Given the description of an element on the screen output the (x, y) to click on. 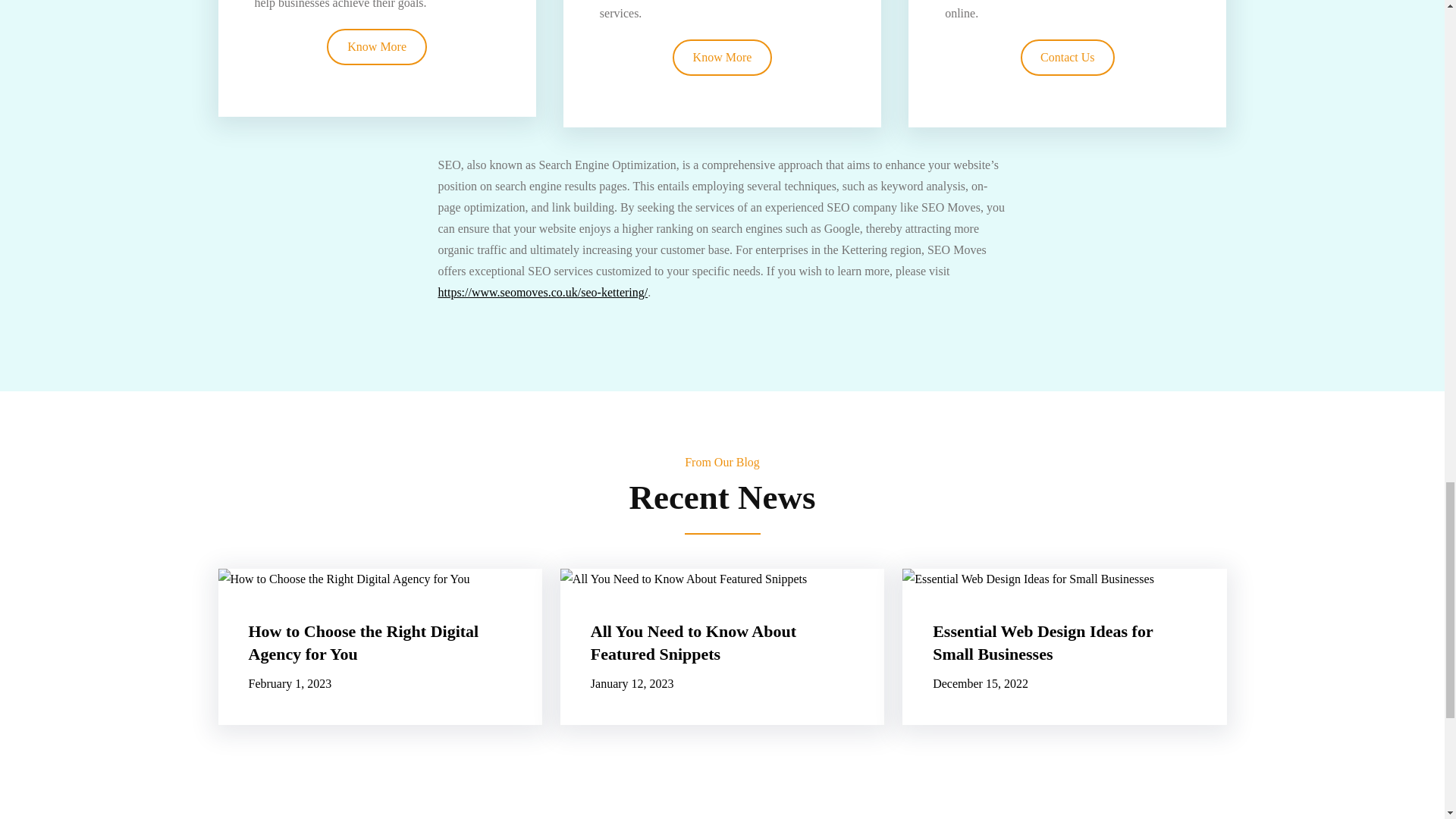
All You Need to Know About Featured Snippets (722, 642)
January 12, 2023 (632, 683)
Know More (722, 57)
How to Choose the Right Digital Agency for You (380, 642)
February 1, 2023 (289, 683)
Essential Web Design Ideas for Small Businesses (1064, 642)
Know More (376, 46)
Contact Us (1067, 57)
December 15, 2022 (980, 683)
